Given the description of an element on the screen output the (x, y) to click on. 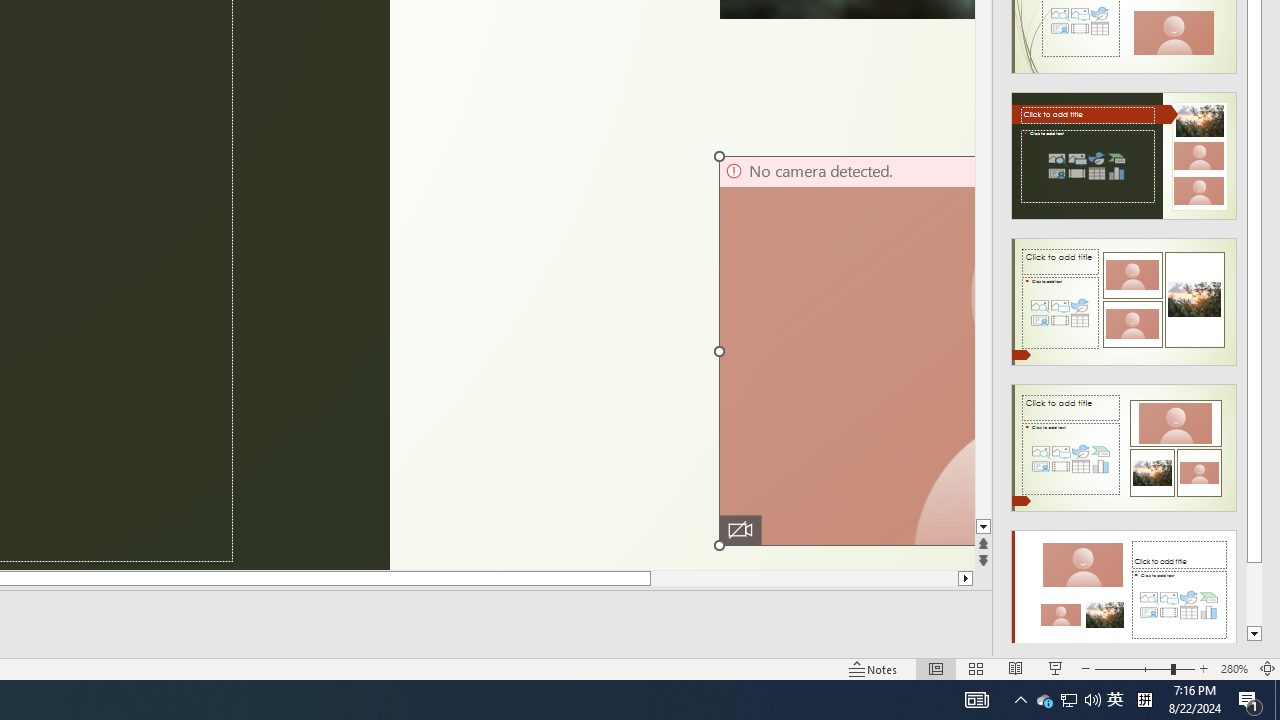
Line down (983, 527)
Camera 13, No camera detected. (845, 350)
Class: NetUIImage (1124, 593)
Page down (983, 283)
Design Idea (1124, 587)
Zoom 280% (1234, 668)
